Given the description of an element on the screen output the (x, y) to click on. 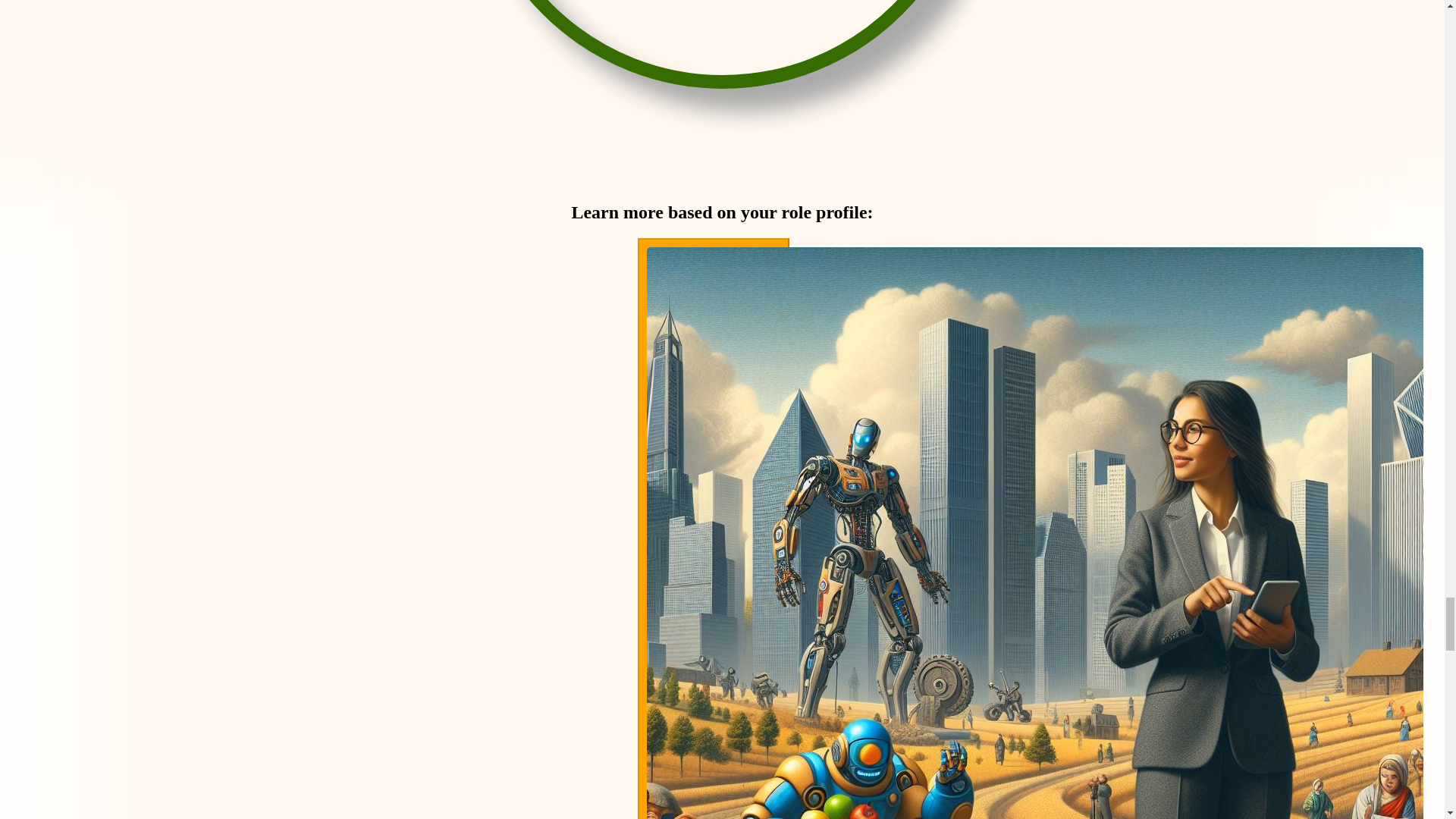
Business (713, 528)
